Given the description of an element on the screen output the (x, y) to click on. 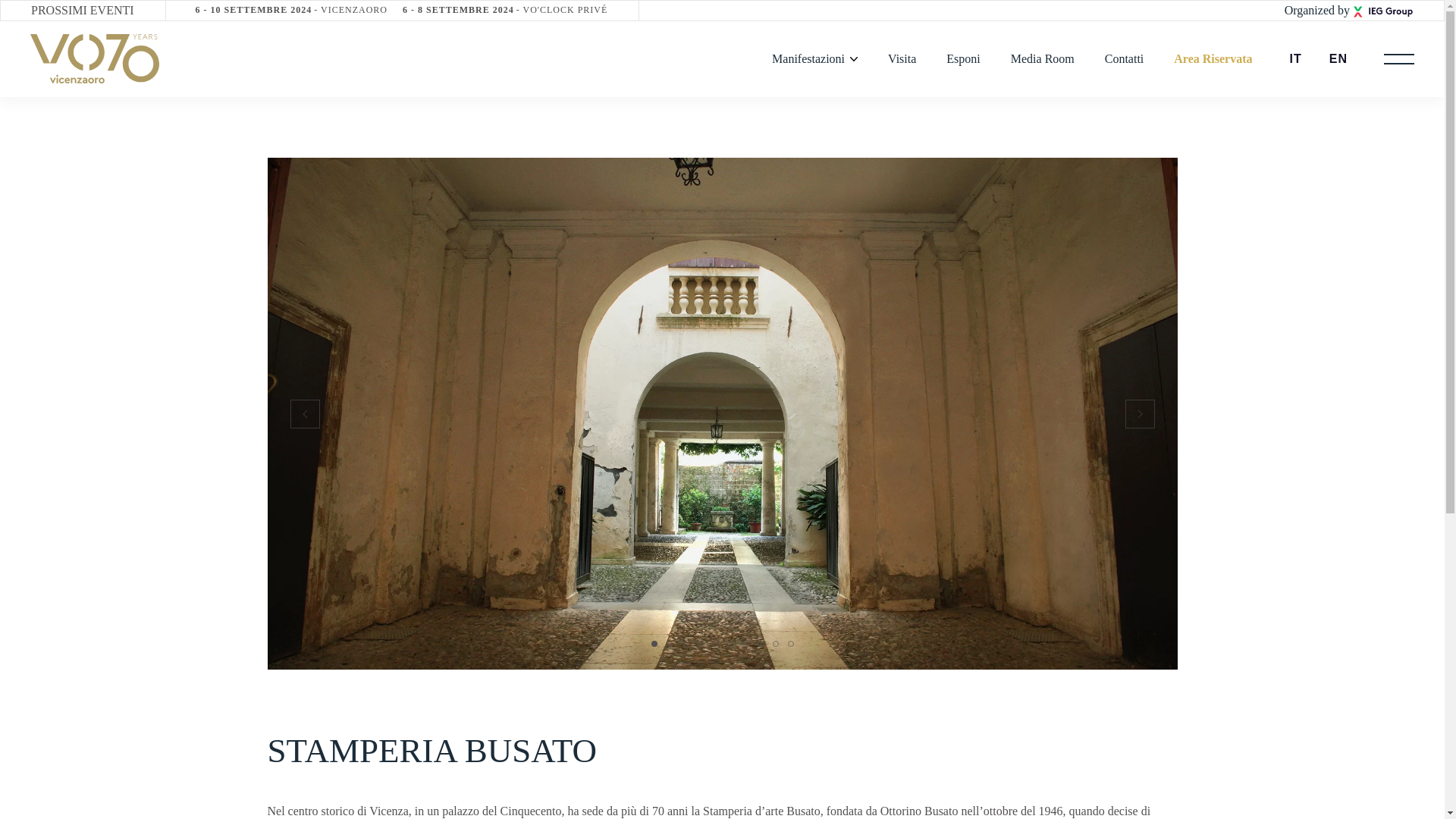
EN (1338, 59)
Area Riservata (291, 10)
Manifestazioni (1212, 59)
